Given the description of an element on the screen output the (x, y) to click on. 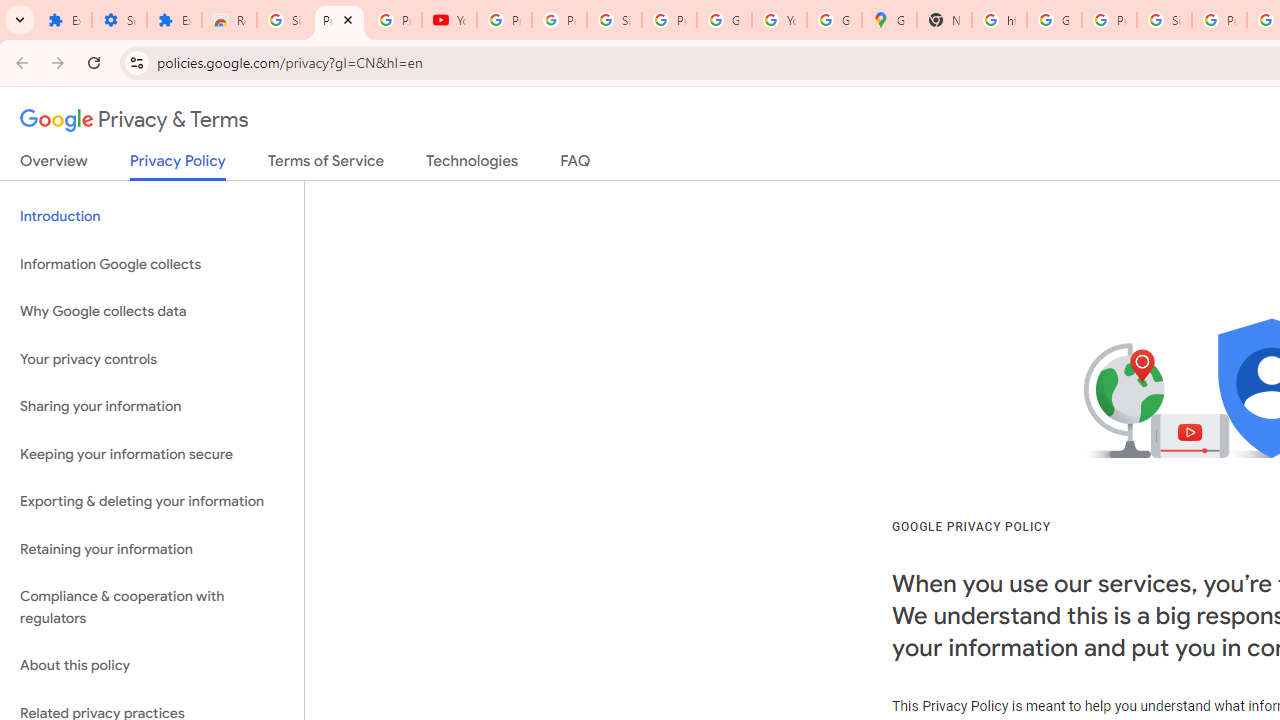
Your privacy controls (152, 358)
YouTube (449, 20)
YouTube (779, 20)
New Tab (943, 20)
Why Google collects data (152, 312)
Sign in - Google Accounts (1163, 20)
